Given the description of an element on the screen output the (x, y) to click on. 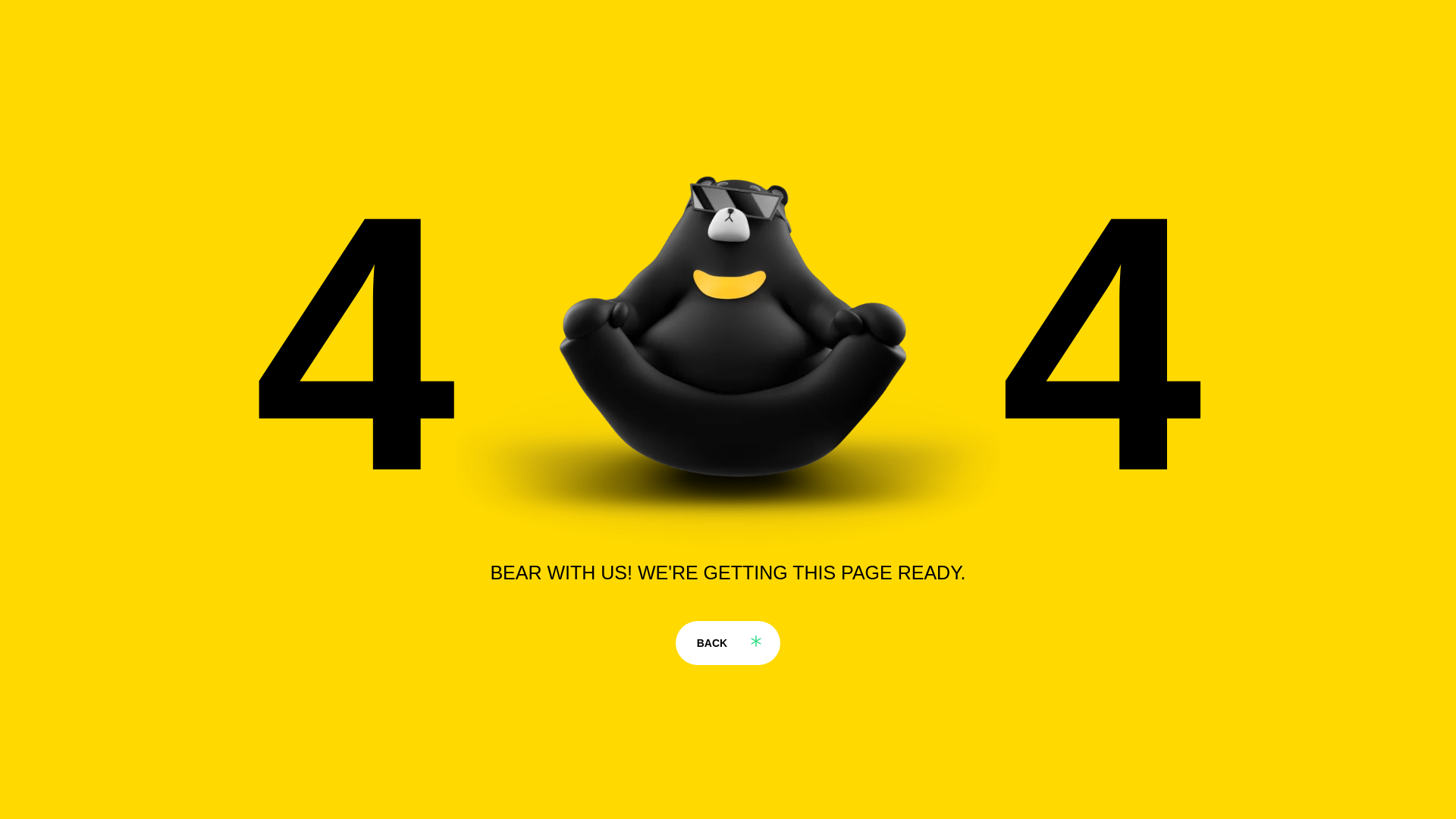
BACK (727, 642)
